Given the description of an element on the screen output the (x, y) to click on. 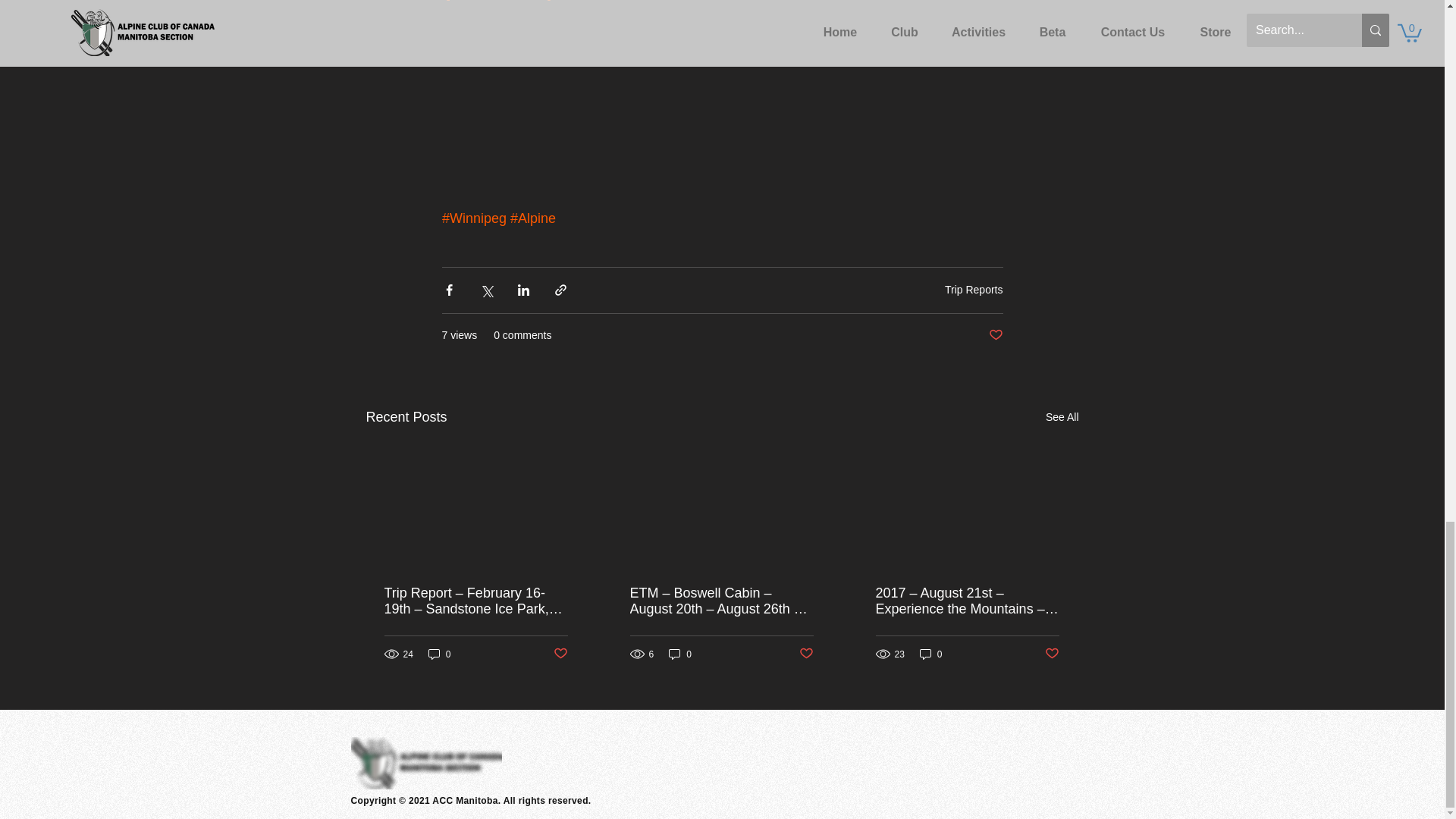
See All (1061, 417)
Post not marked as liked (995, 335)
Trip Reports (973, 289)
